Given the description of an element on the screen output the (x, y) to click on. 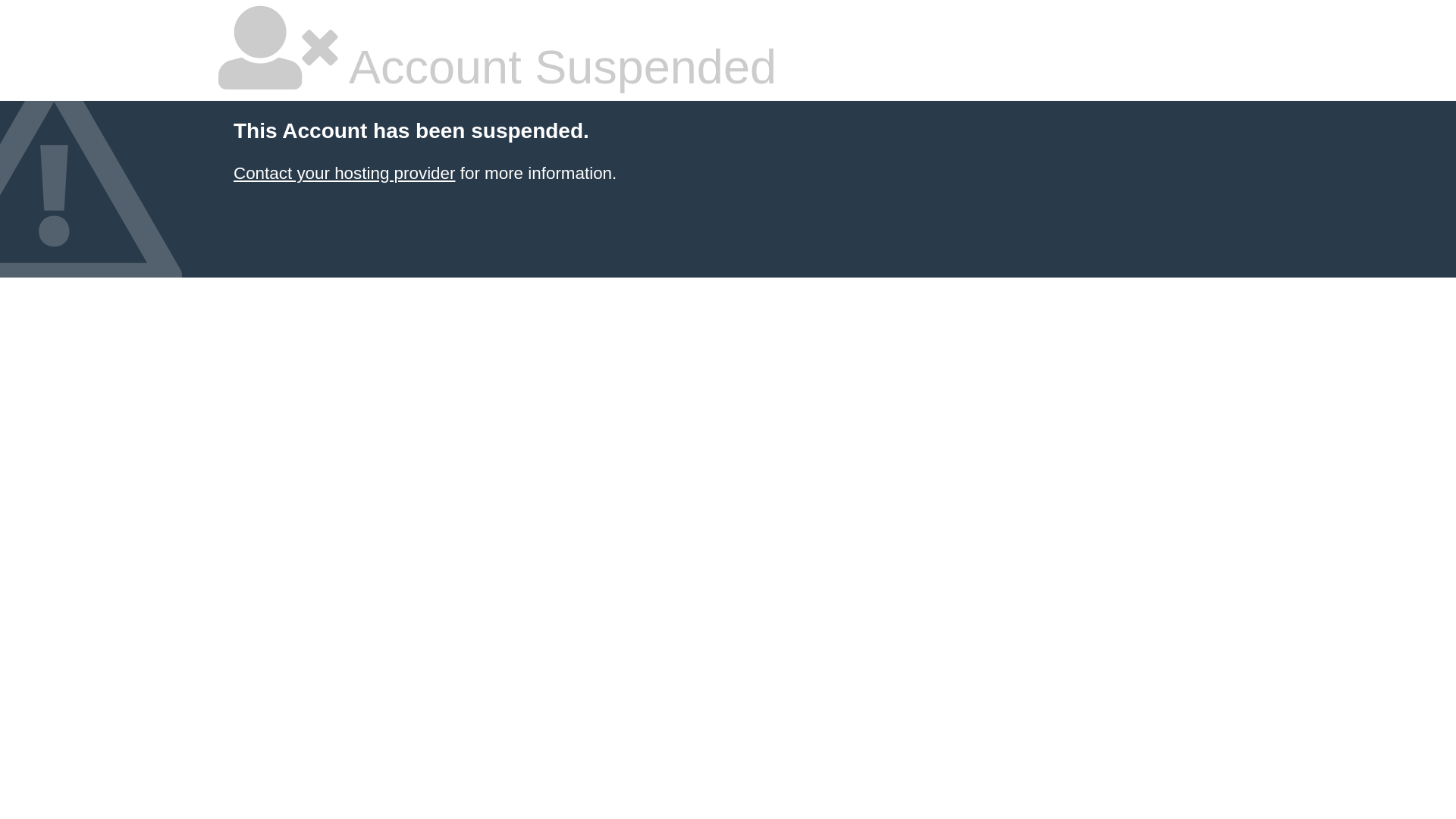
Contact your hosting provider Element type: text (344, 172)
